Given the description of an element on the screen output the (x, y) to click on. 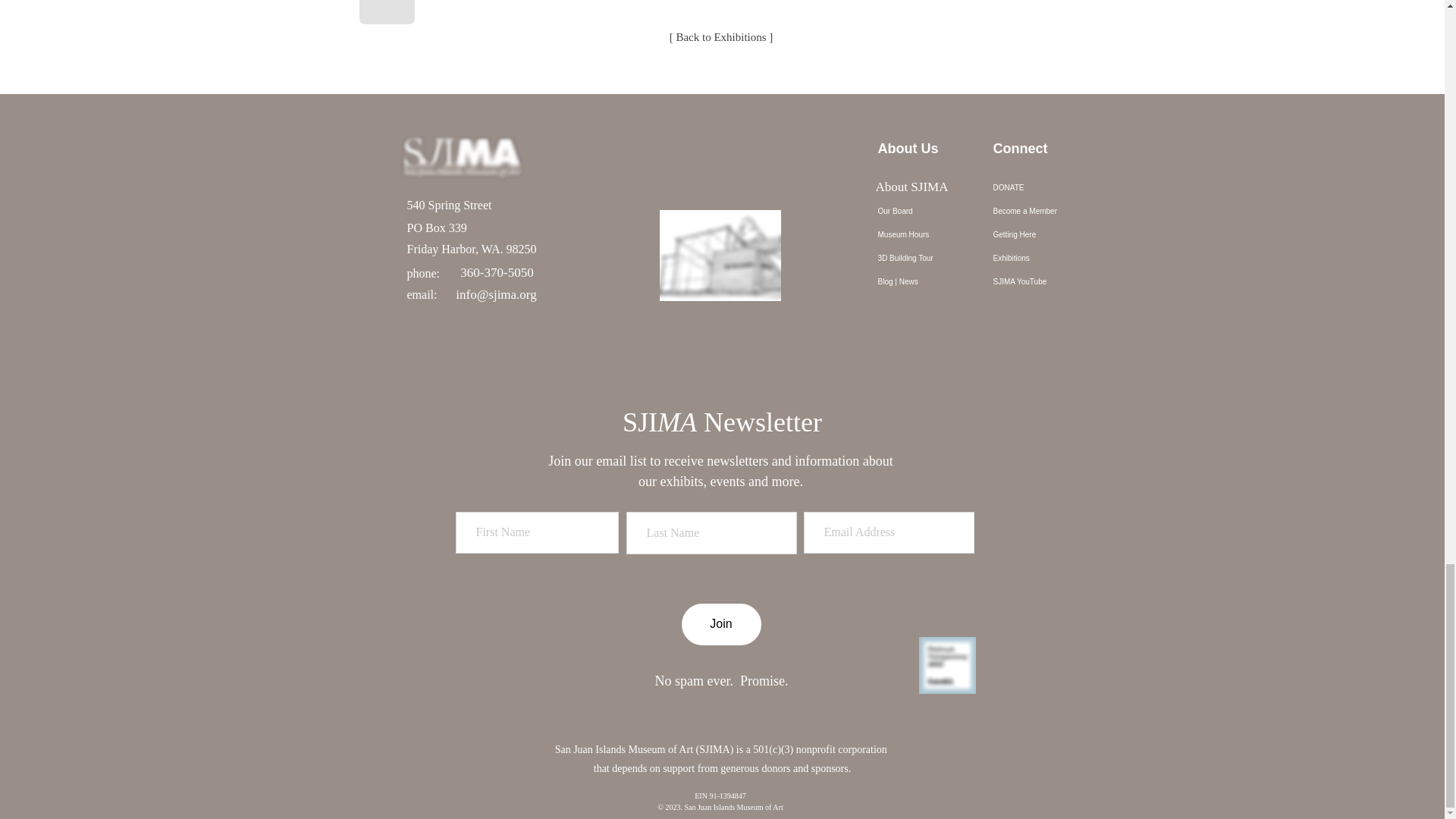
About Us (926, 187)
No spam ever.  Promise. (722, 680)
Our Board (926, 210)
SJIMA YouTube (1042, 281)
Become a Member (1042, 210)
3D Building Tour (926, 258)
About SJIMA (911, 186)
Exhibitions (1042, 258)
360-370-5050 (497, 272)
DONATE (1042, 187)
Join (720, 624)
Getting Here (1042, 234)
Museum Hours (926, 234)
